Given the description of an element on the screen output the (x, y) to click on. 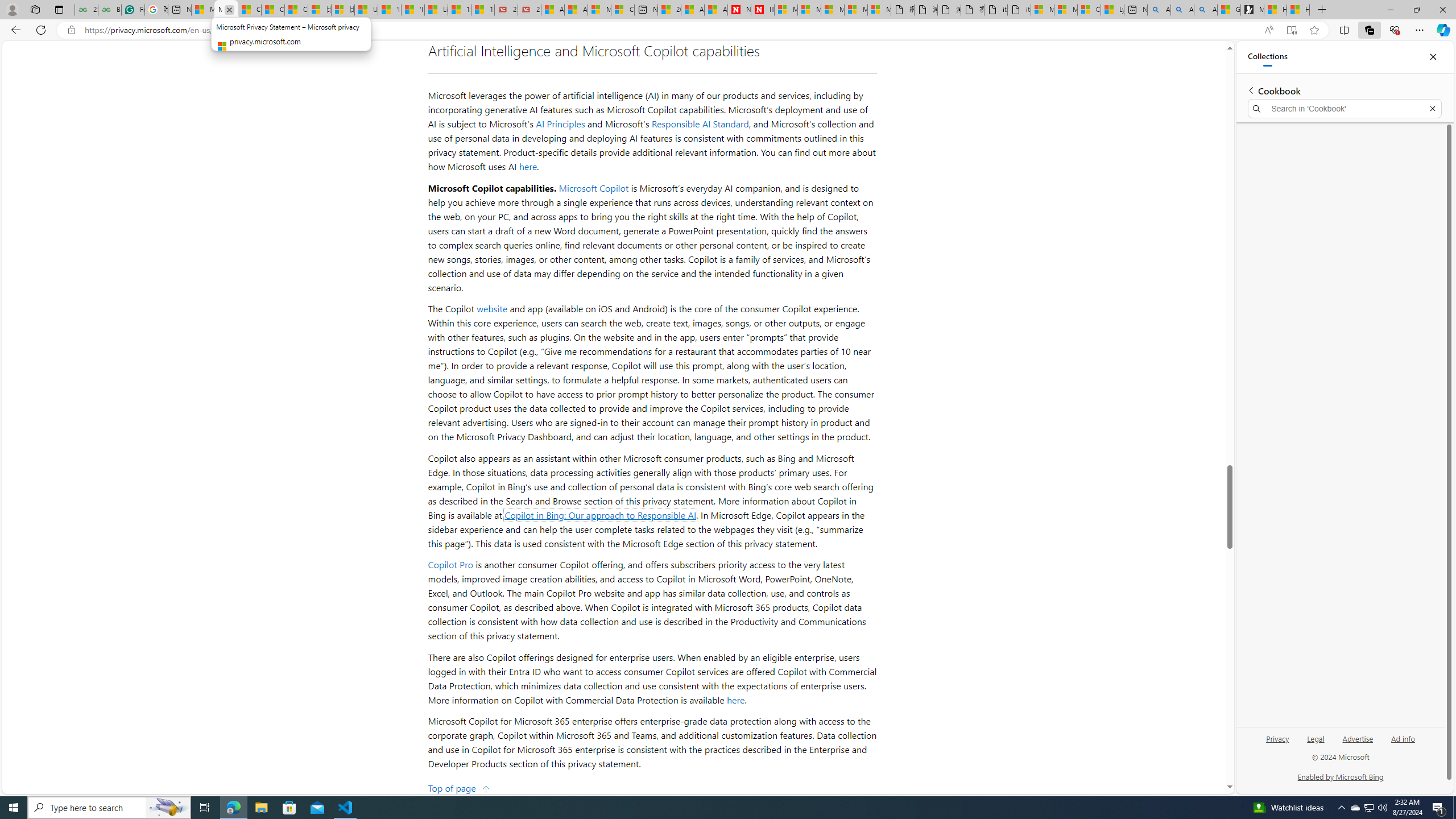
How to Use a TV as a Computer Monitor (1297, 9)
website (492, 308)
AI Principles (560, 123)
Top of page (459, 787)
Cloud Computing Services | Microsoft Azure (622, 9)
